Given the description of an element on the screen output the (x, y) to click on. 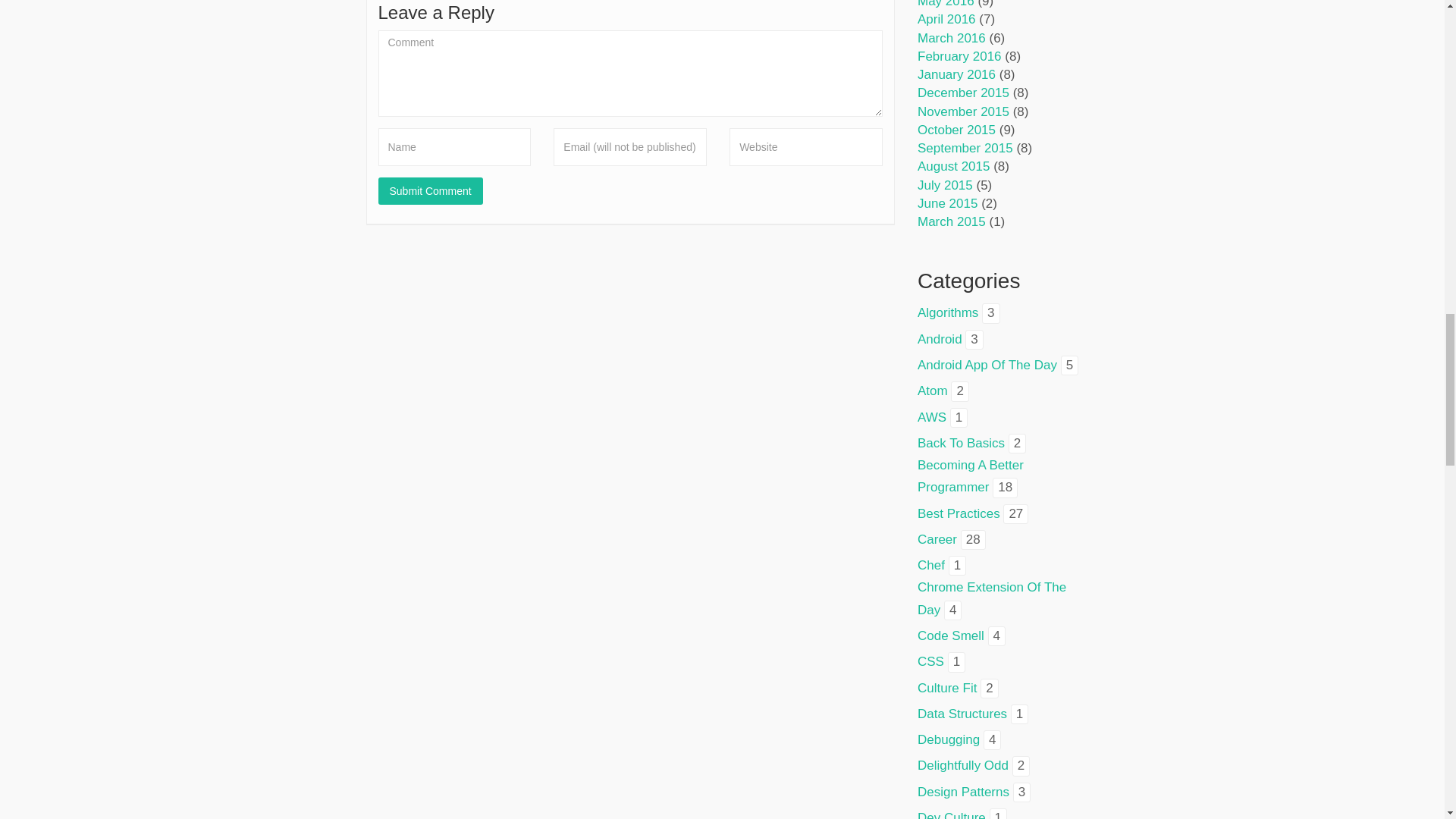
Submit Comment (429, 190)
Submit Comment (429, 190)
